Given the description of an element on the screen output the (x, y) to click on. 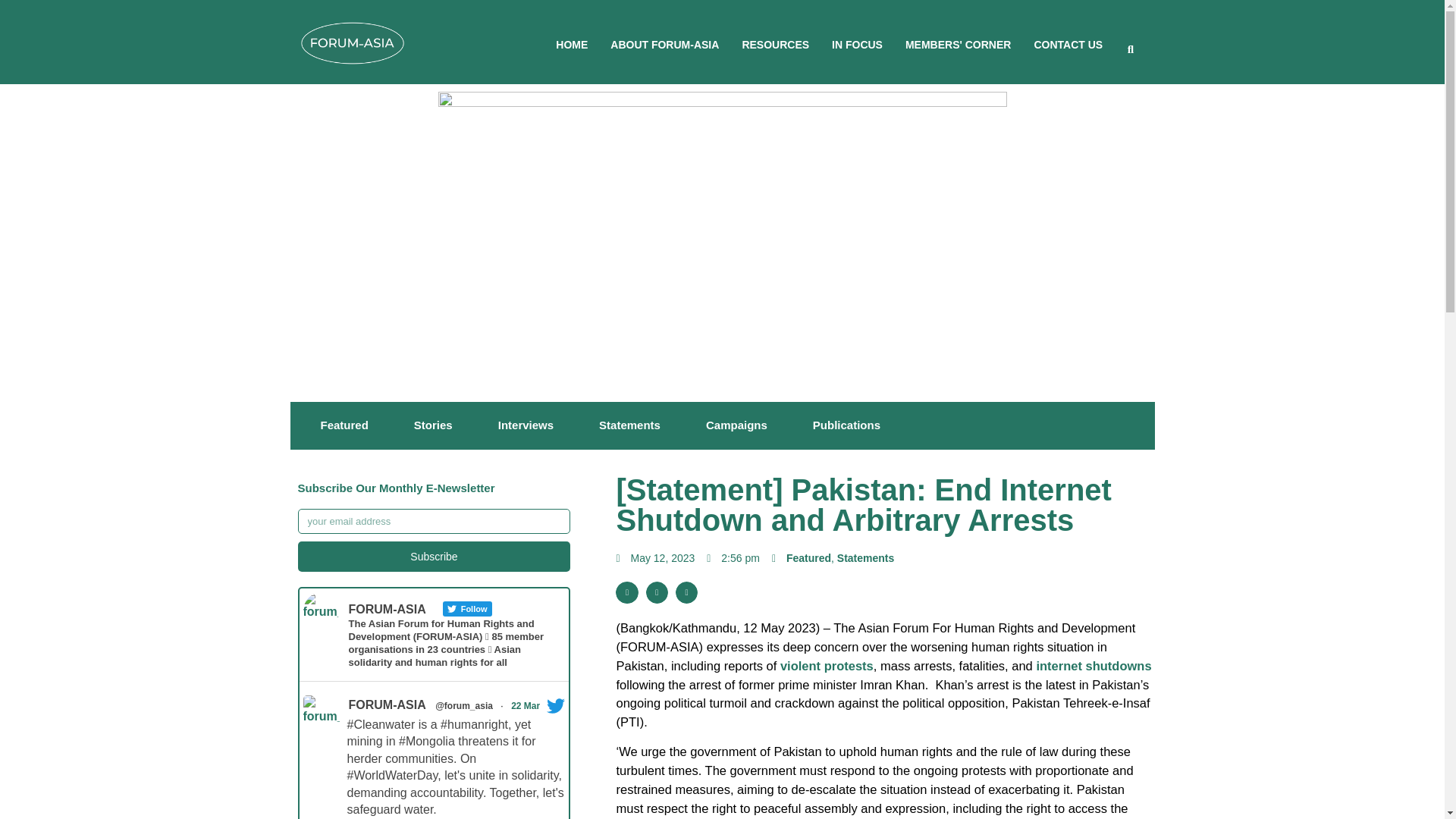
MEMBERS' CORNER (957, 44)
HOME (571, 44)
CONTACT US (1067, 44)
ABOUT FORUM-ASIA (664, 44)
IN FOCUS (856, 44)
RESOURCES (774, 44)
